Given the description of an element on the screen output the (x, y) to click on. 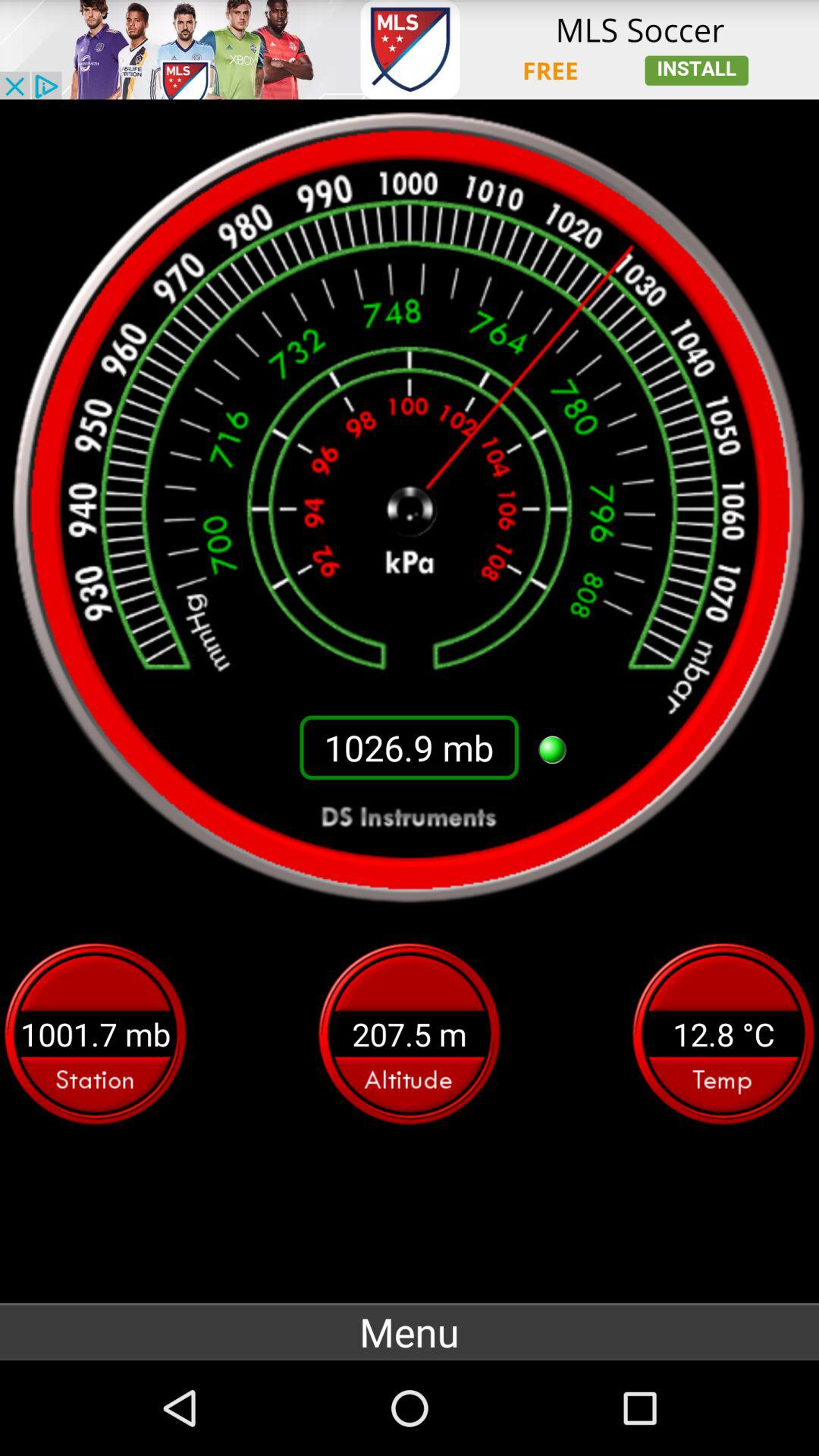
install the promoted app (409, 49)
